Given the description of an element on the screen output the (x, y) to click on. 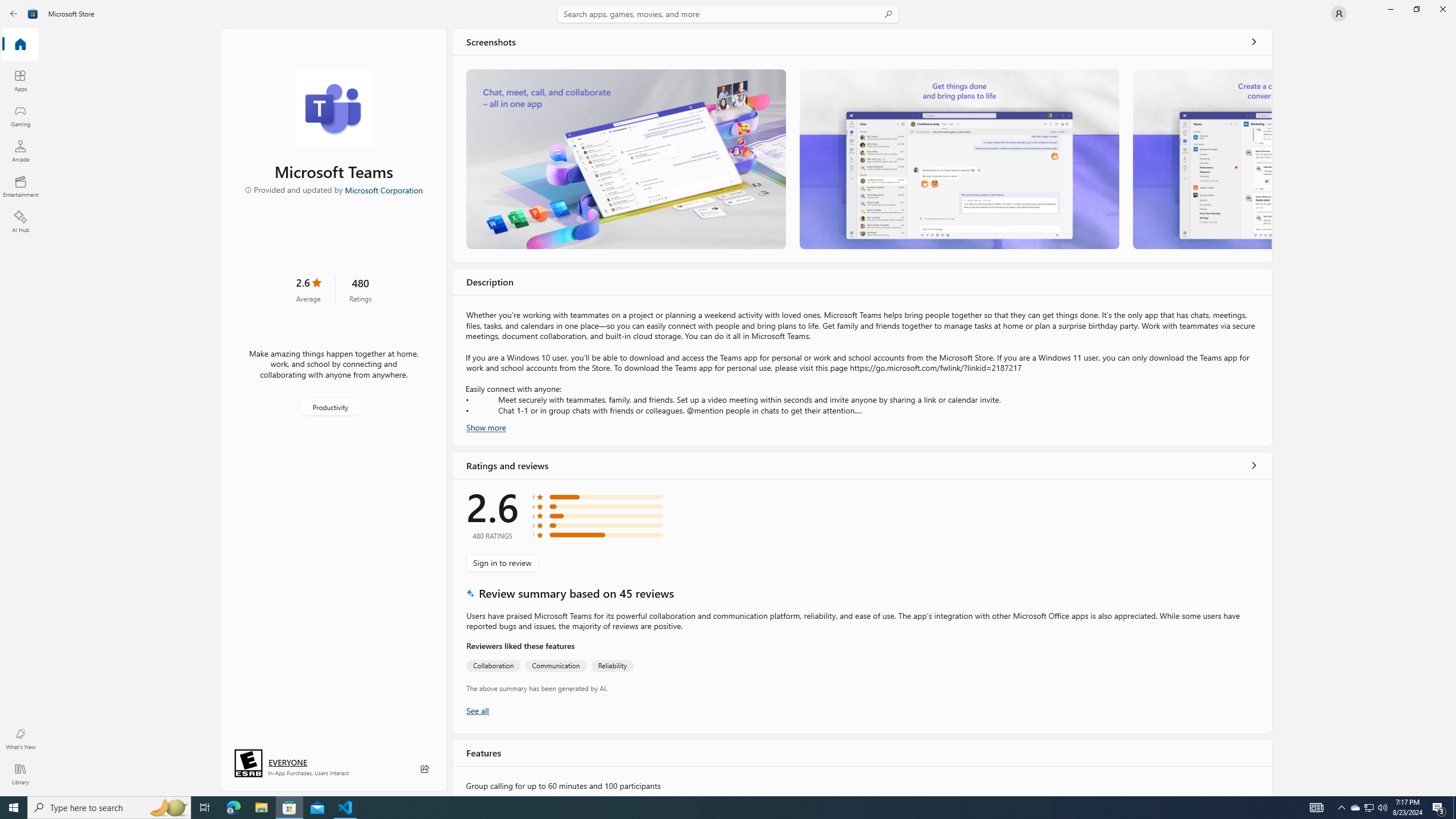
Screenshot 1 (625, 158)
2.6 stars. Click to skip to ratings and reviews (307, 288)
Show more (485, 426)
Back (13, 13)
Screenshot 3 (1201, 158)
Show all ratings and reviews (477, 710)
Screenshot 2 (959, 158)
Show all ratings and reviews (1253, 465)
